Given the description of an element on the screen output the (x, y) to click on. 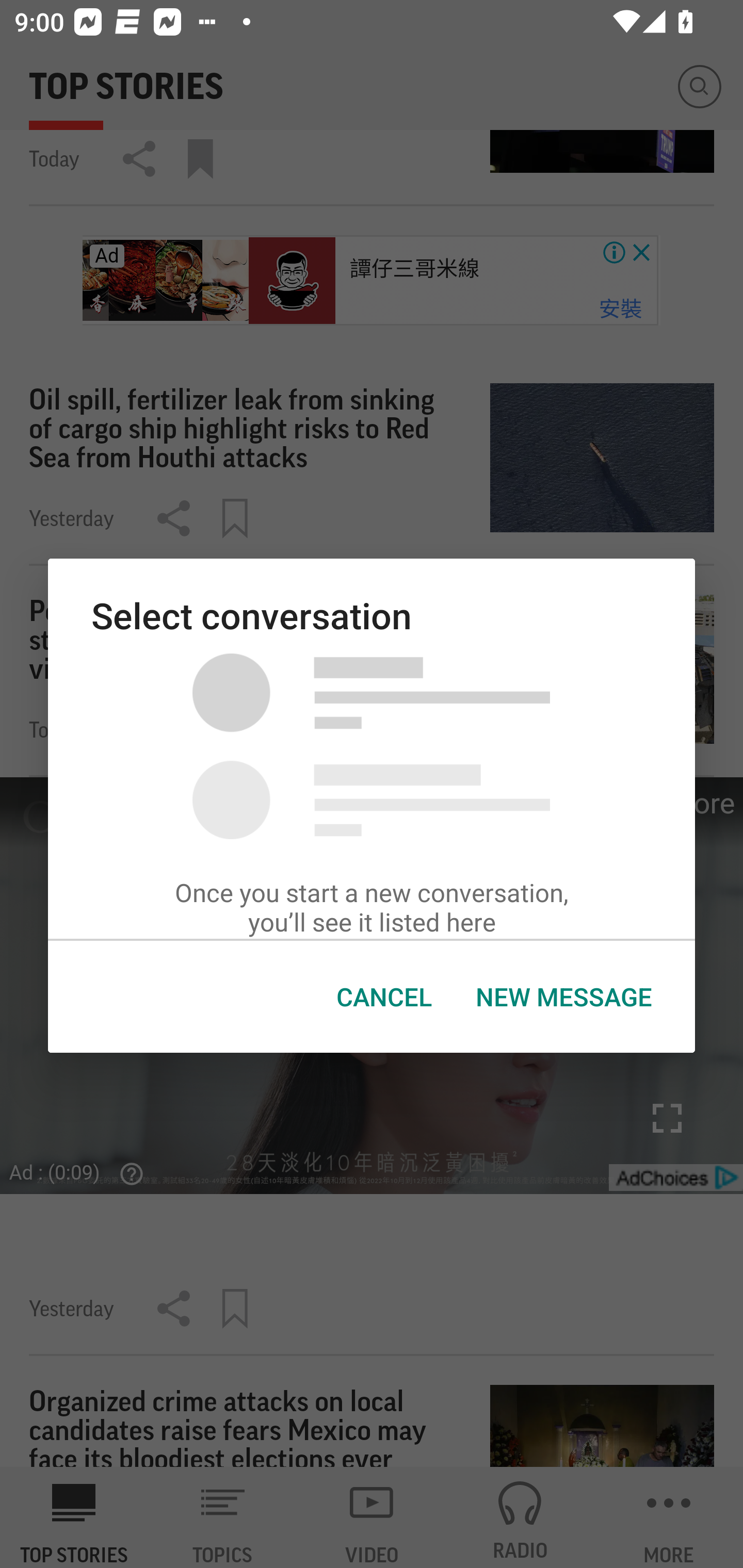
CANCEL (384, 996)
NEW MESSAGE (563, 996)
